Given the description of an element on the screen output the (x, y) to click on. 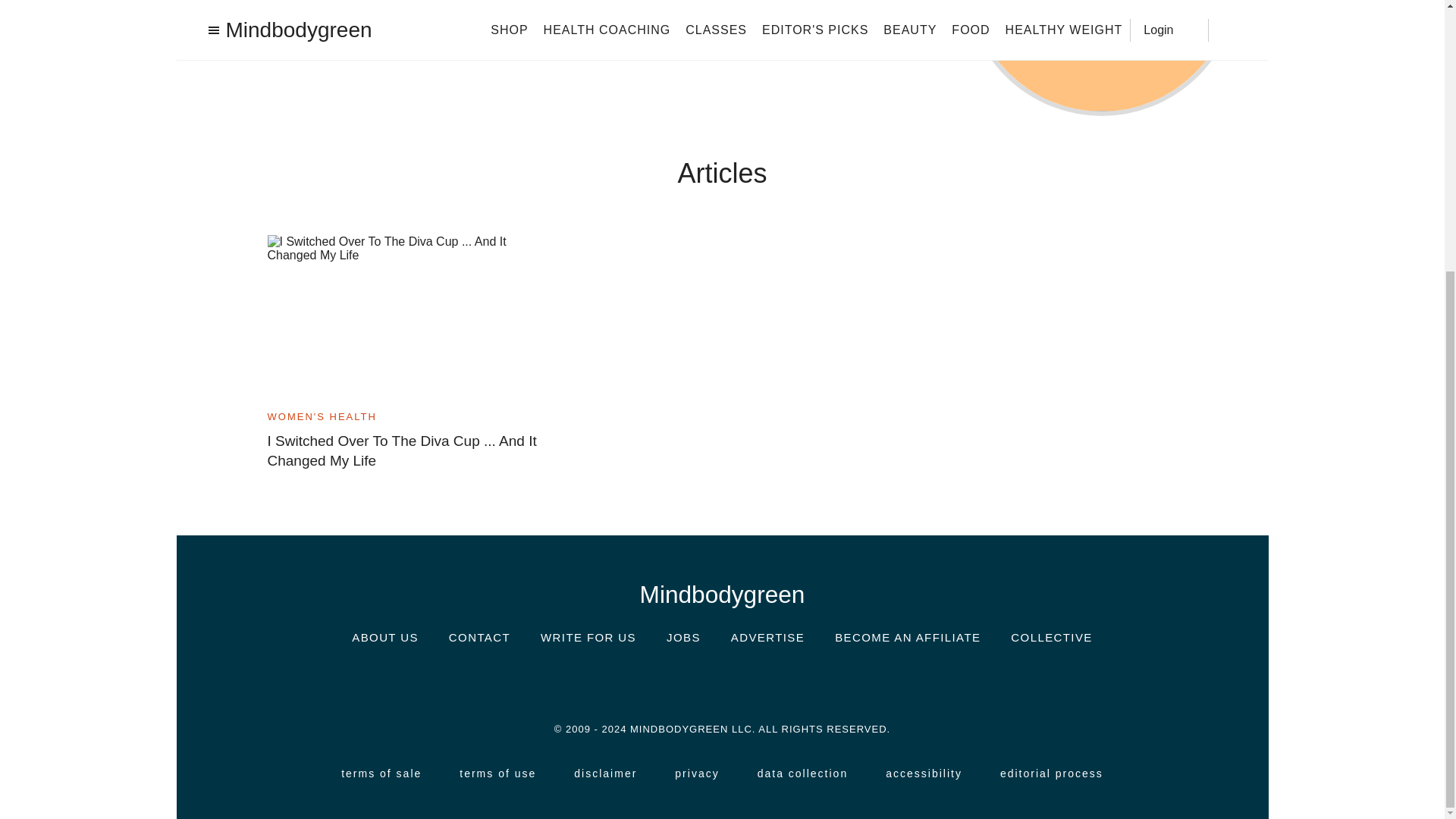
Pinterest (767, 682)
Twitter (721, 681)
Instagram (630, 680)
Visit Kristen Burris on facebook (298, 40)
Pinterest (767, 681)
ADVERTISE (767, 636)
Visit Kristen Burris on website (332, 40)
Twitter (721, 682)
I Switched Over To The Diva Cup ... And It Changed My Life (406, 450)
BECOME AN AFFILIATE (906, 636)
Facebook (676, 680)
privacy (697, 774)
terms of sale (381, 774)
COLLECTIVE (1051, 636)
YouTube (812, 682)
